Given the description of an element on the screen output the (x, y) to click on. 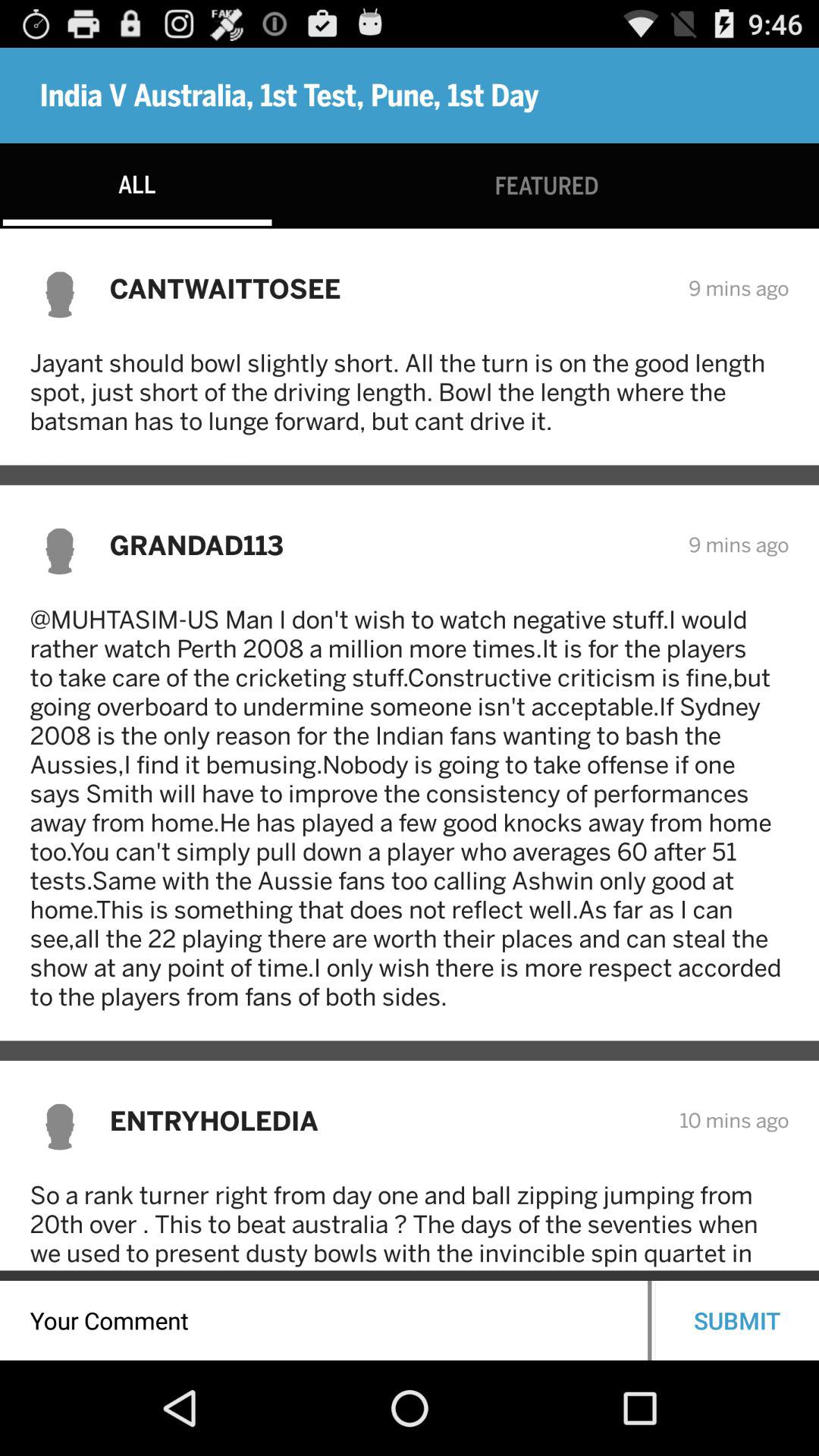
flip to jayant should bowl item (409, 391)
